Given the description of an element on the screen output the (x, y) to click on. 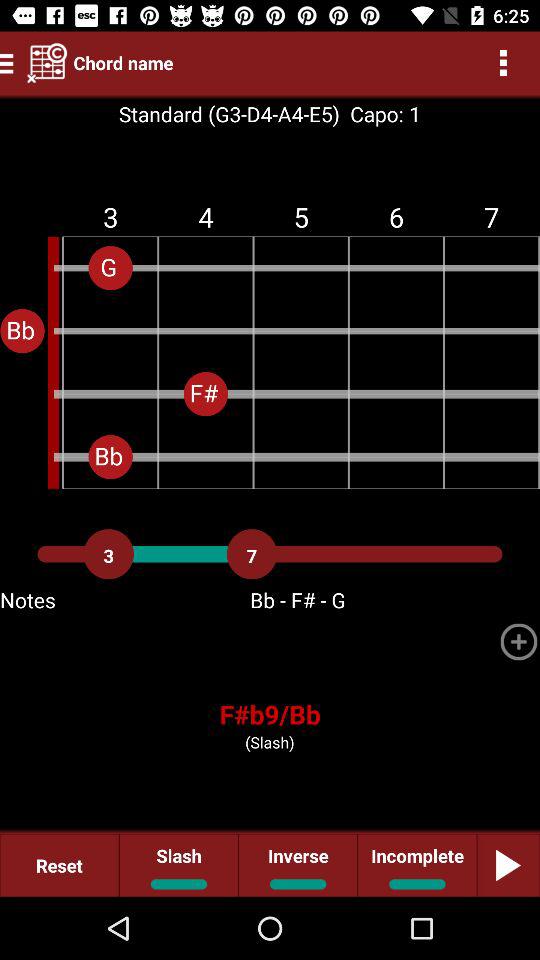
open the item next to   capo: 1 item (228, 113)
